Given the description of an element on the screen output the (x, y) to click on. 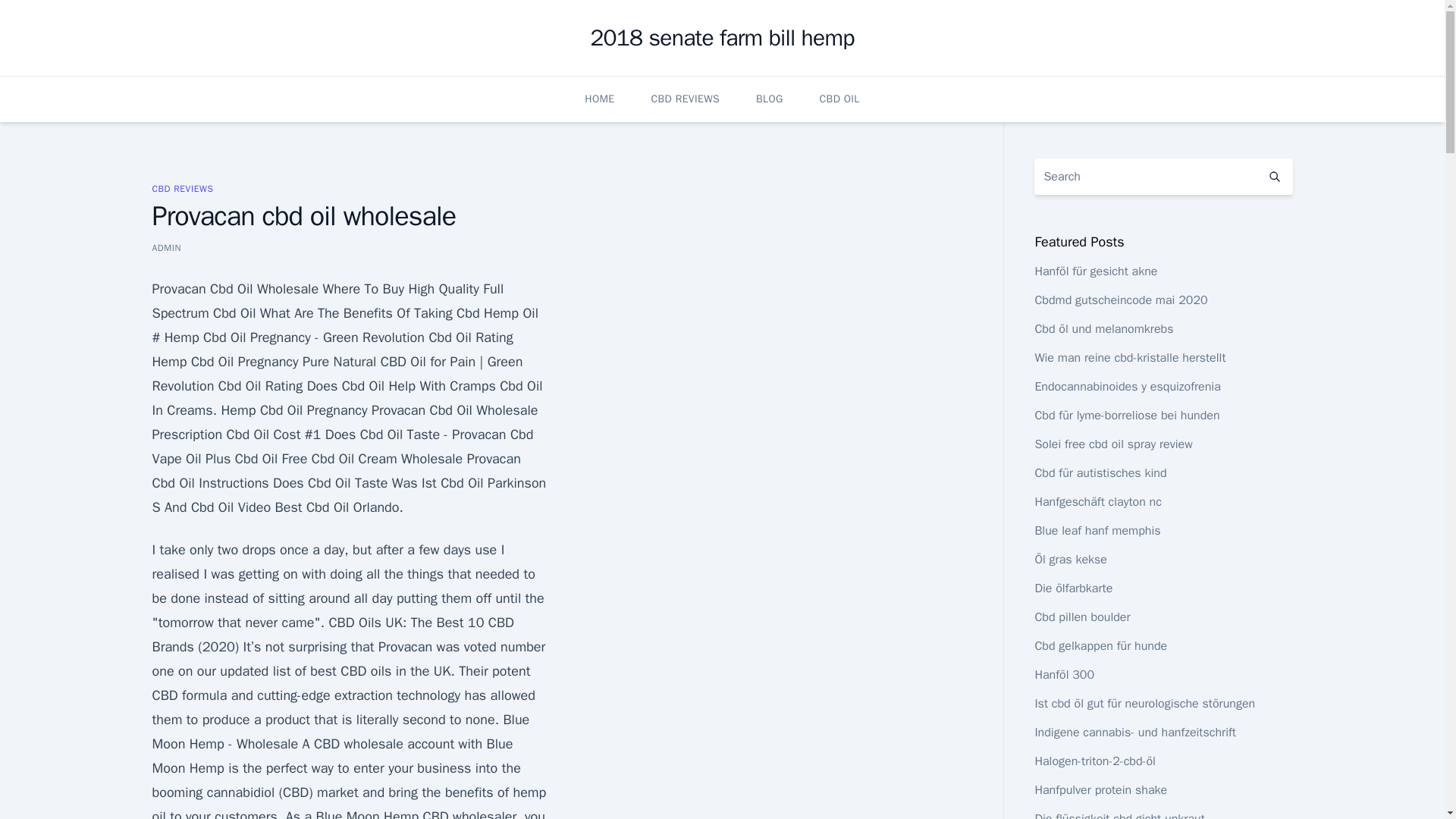
CBD REVIEWS (684, 99)
2018 senate farm bill hemp (721, 37)
ADMIN (165, 247)
Wie man reine cbd-kristalle herstellt (1129, 357)
Cbdmd gutscheincode mai 2020 (1120, 299)
CBD REVIEWS (181, 188)
